Given the description of an element on the screen output the (x, y) to click on. 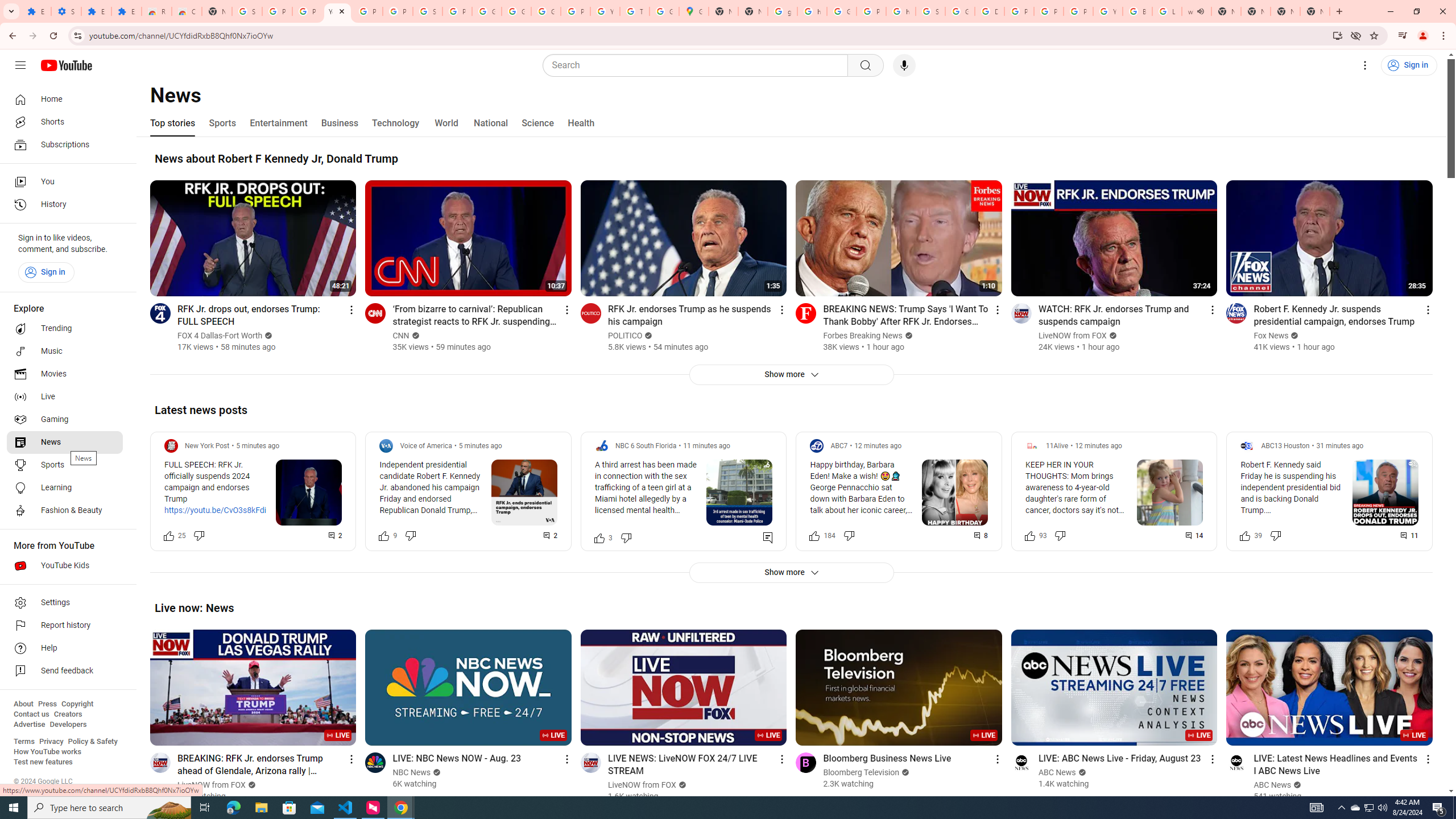
YouTube Home (66, 65)
Privacy Help Center - Policies Help (1018, 11)
Forbes Breaking News (863, 335)
Install YouTube (1336, 35)
Copyright (77, 703)
12 minutes ago (1098, 445)
Chrome Web Store - Themes (185, 11)
Movies (64, 373)
Guide (20, 65)
